Given the description of an element on the screen output the (x, y) to click on. 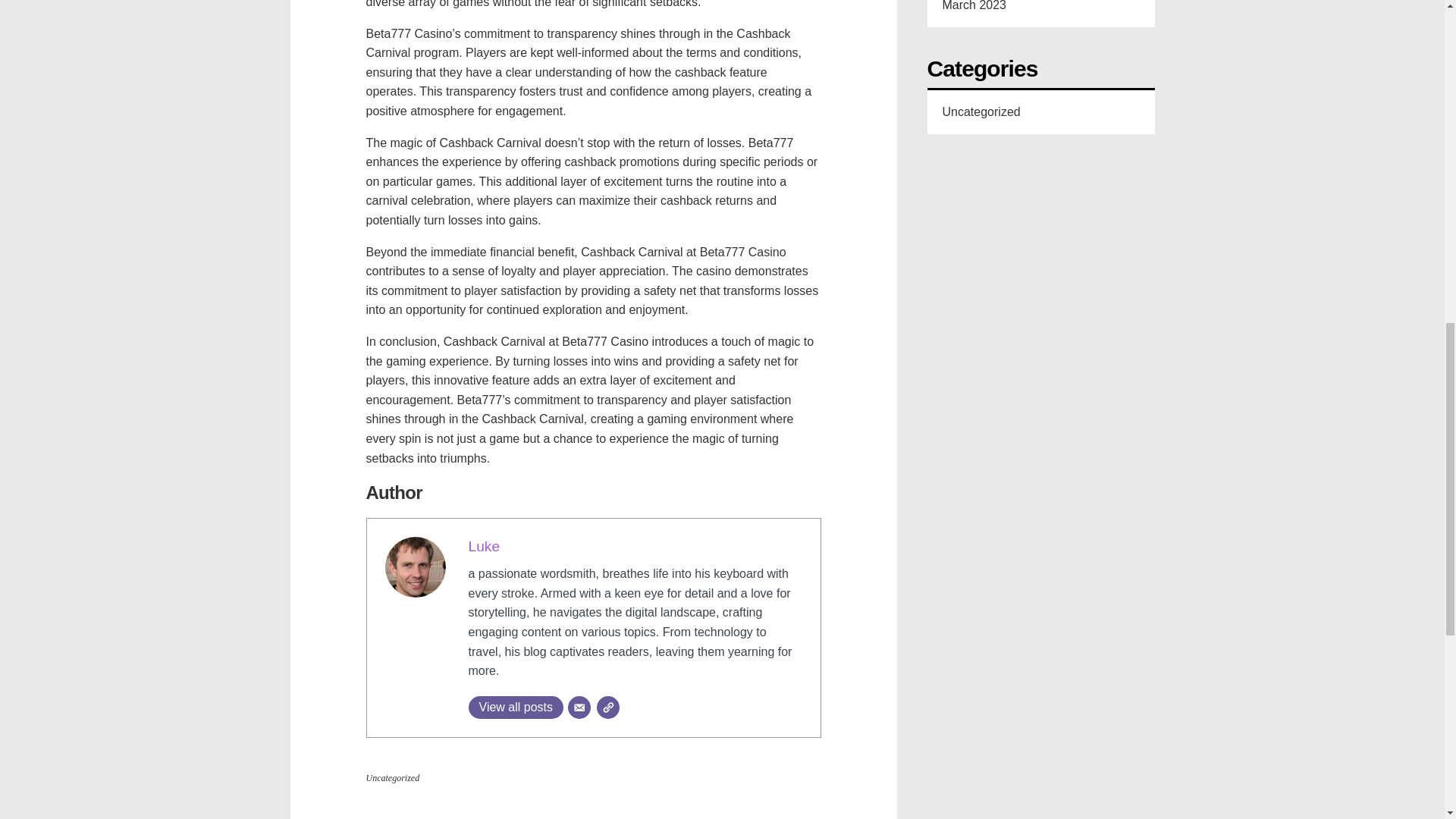
View all posts (516, 707)
Luke (484, 546)
Uncategorized (392, 778)
Luke (484, 546)
View all posts (516, 707)
